Given the description of an element on the screen output the (x, y) to click on. 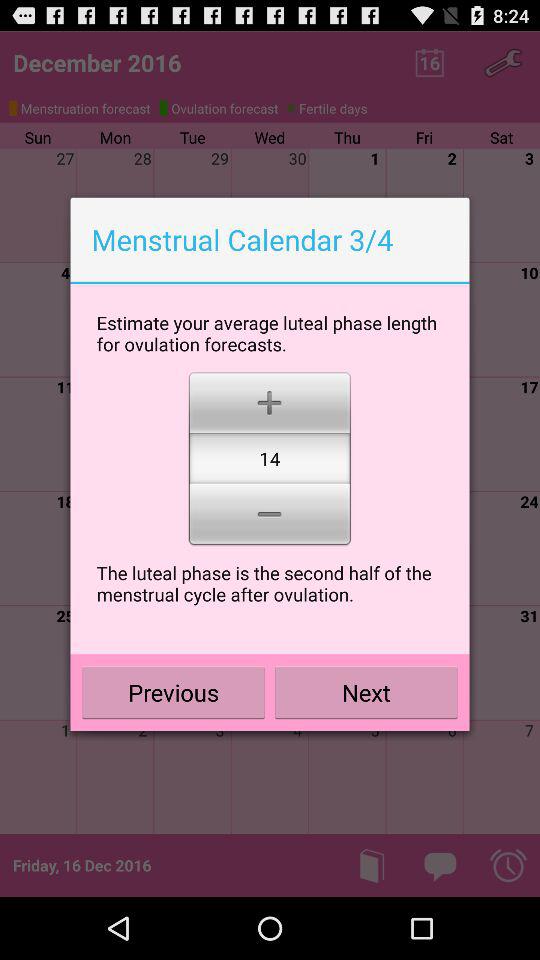
select item above the luteal phase app (269, 515)
